Given the description of an element on the screen output the (x, y) to click on. 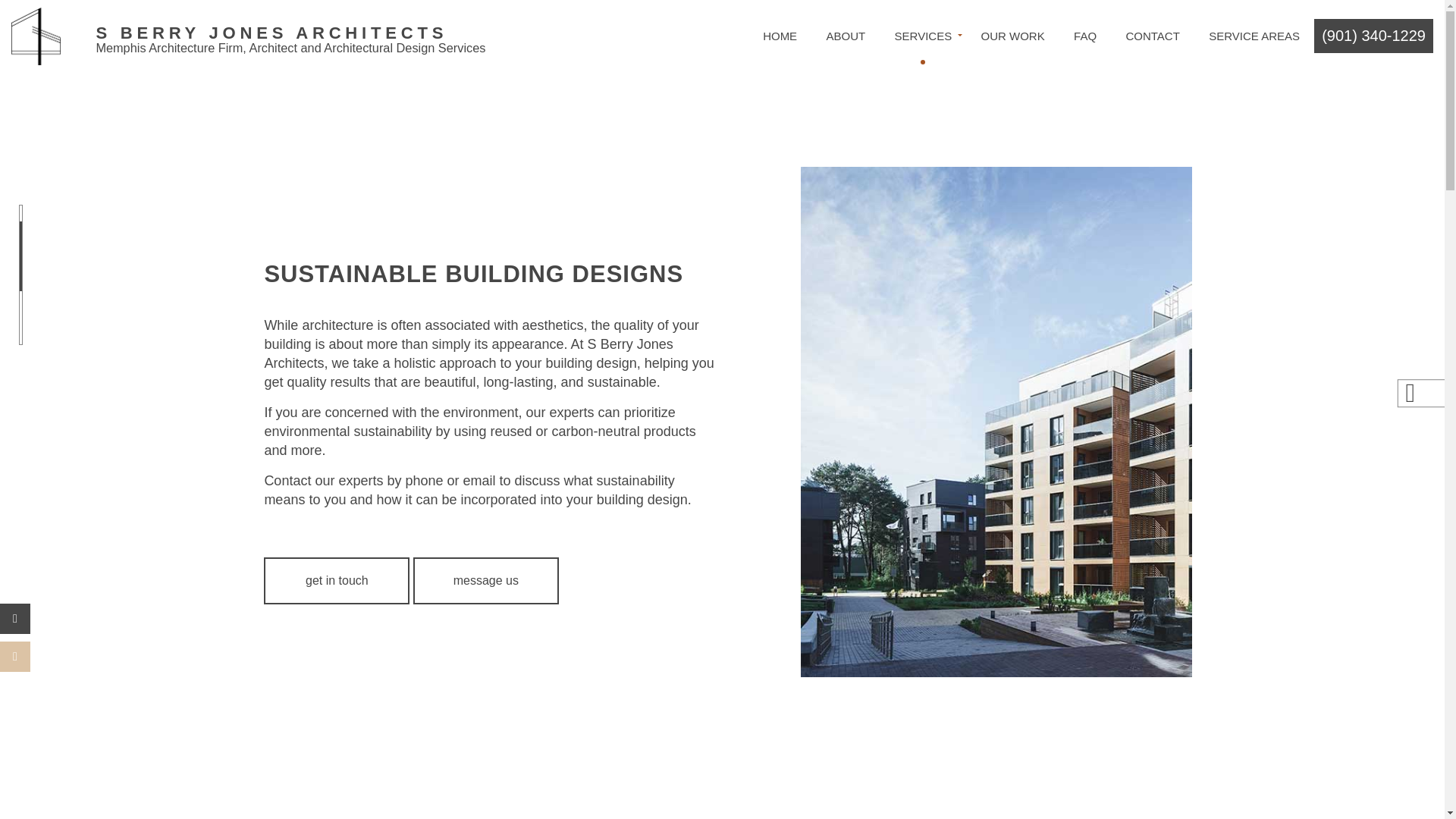
Message Us (486, 580)
ARCHITECTURAL DESIGN DEVELOPMENT (916, 87)
ABOUT (844, 35)
ARCHITECTURAL DRAFTING SERVICES (690, 107)
Great Service with S Berry Jones Architects (290, 33)
ARCHITECT (690, 87)
SERVICES (922, 35)
ARCHITECTURAL PROGRAMMING (916, 107)
S Berry Jones Architects (36, 34)
S BERRY JONES ARCHITECTS (290, 33)
HOME (779, 35)
